Given the description of an element on the screen output the (x, y) to click on. 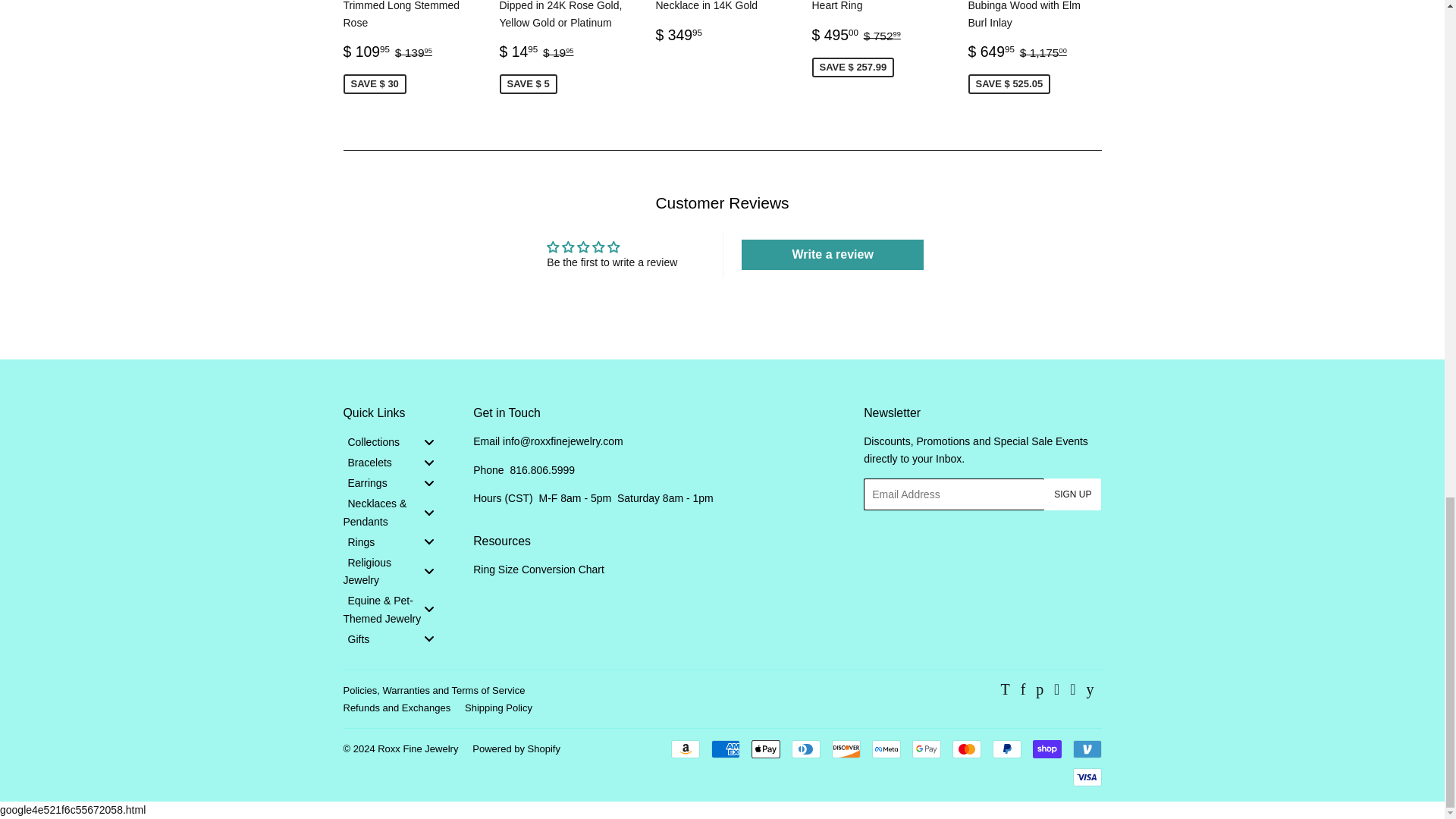
American Express (725, 749)
Diners Club (806, 749)
PayPal (1005, 749)
Shop Pay (1046, 749)
Apple Pay (764, 749)
Visa (1085, 777)
Amazon (683, 749)
Meta Pay (886, 749)
Venmo (1085, 749)
Google Pay (925, 749)
Discover (845, 749)
Mastercard (966, 749)
